Given the description of an element on the screen output the (x, y) to click on. 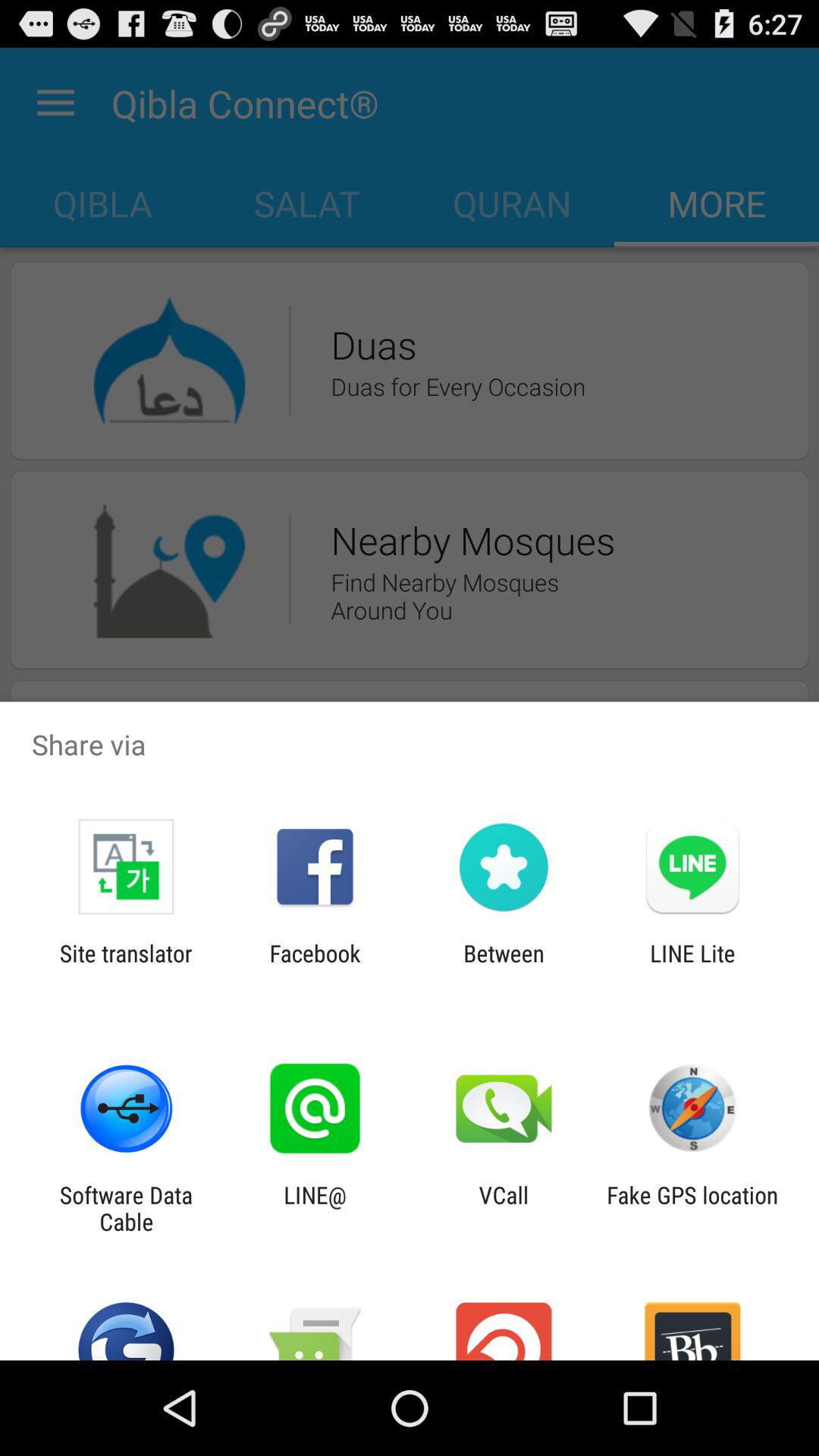
turn off the line lite icon (692, 966)
